Given the description of an element on the screen output the (x, y) to click on. 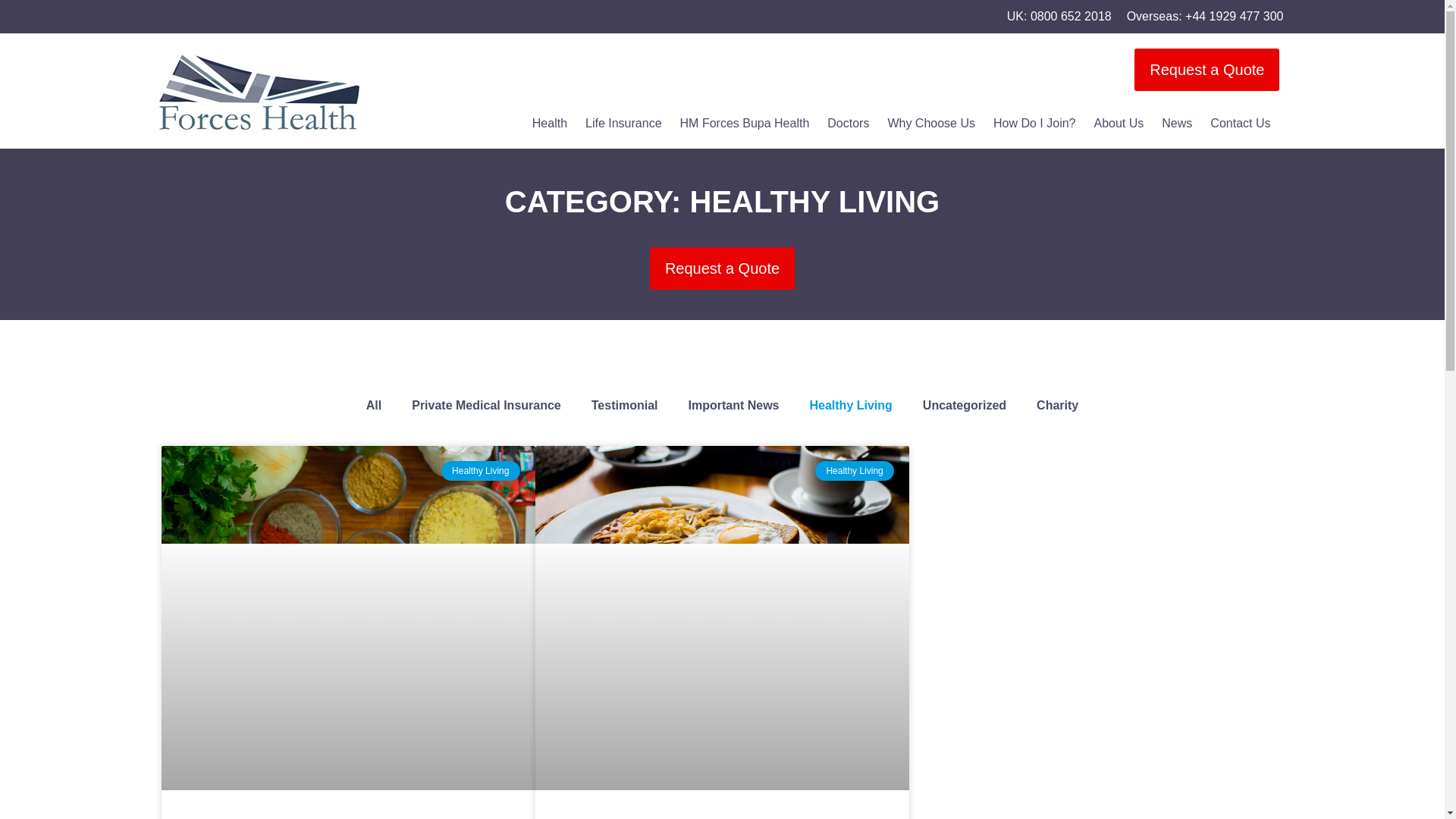
Private Medical Insurance (486, 417)
UK: 0800 652 2018 (1059, 16)
Life Insurance (623, 123)
Contact Us (1240, 123)
Testimonial (624, 411)
HM Forces Bupa Health (744, 123)
News (1177, 123)
Charity (1057, 405)
Health (549, 123)
Doctors (847, 123)
Important News (732, 410)
Healthy Living (850, 407)
All (373, 420)
Uncategorized (964, 406)
Request a Quote (721, 271)
